Given the description of an element on the screen output the (x, y) to click on. 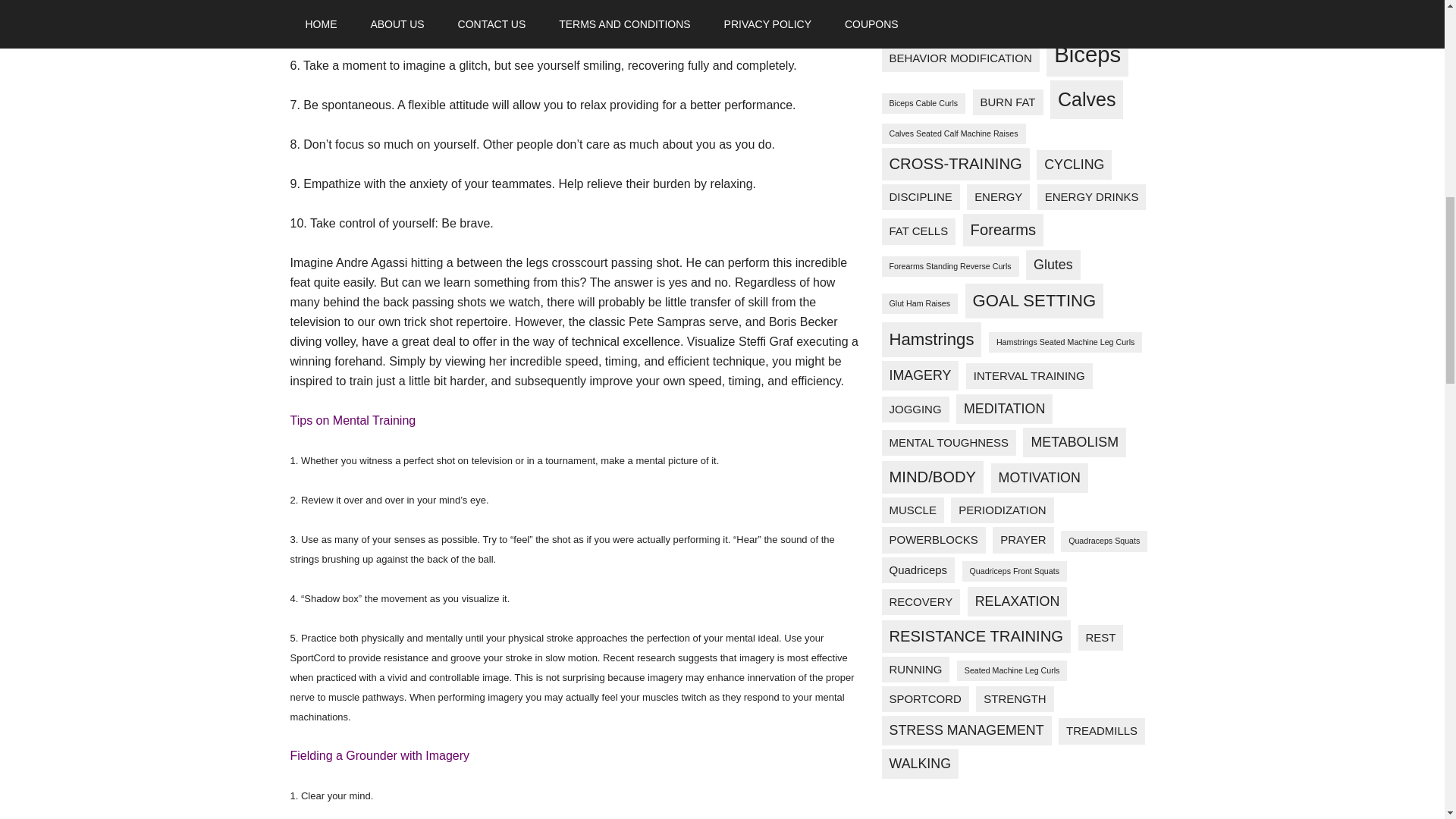
Calves Seated Calf Machine Raises (952, 133)
CYCLING (1074, 164)
Calves (1085, 99)
Biceps Cable Curls (922, 103)
BEHAVIOR MODIFICATION (959, 58)
CROSS-TRAINING (954, 164)
Biceps (1087, 54)
BURN FAT (1007, 102)
